Given the description of an element on the screen output the (x, y) to click on. 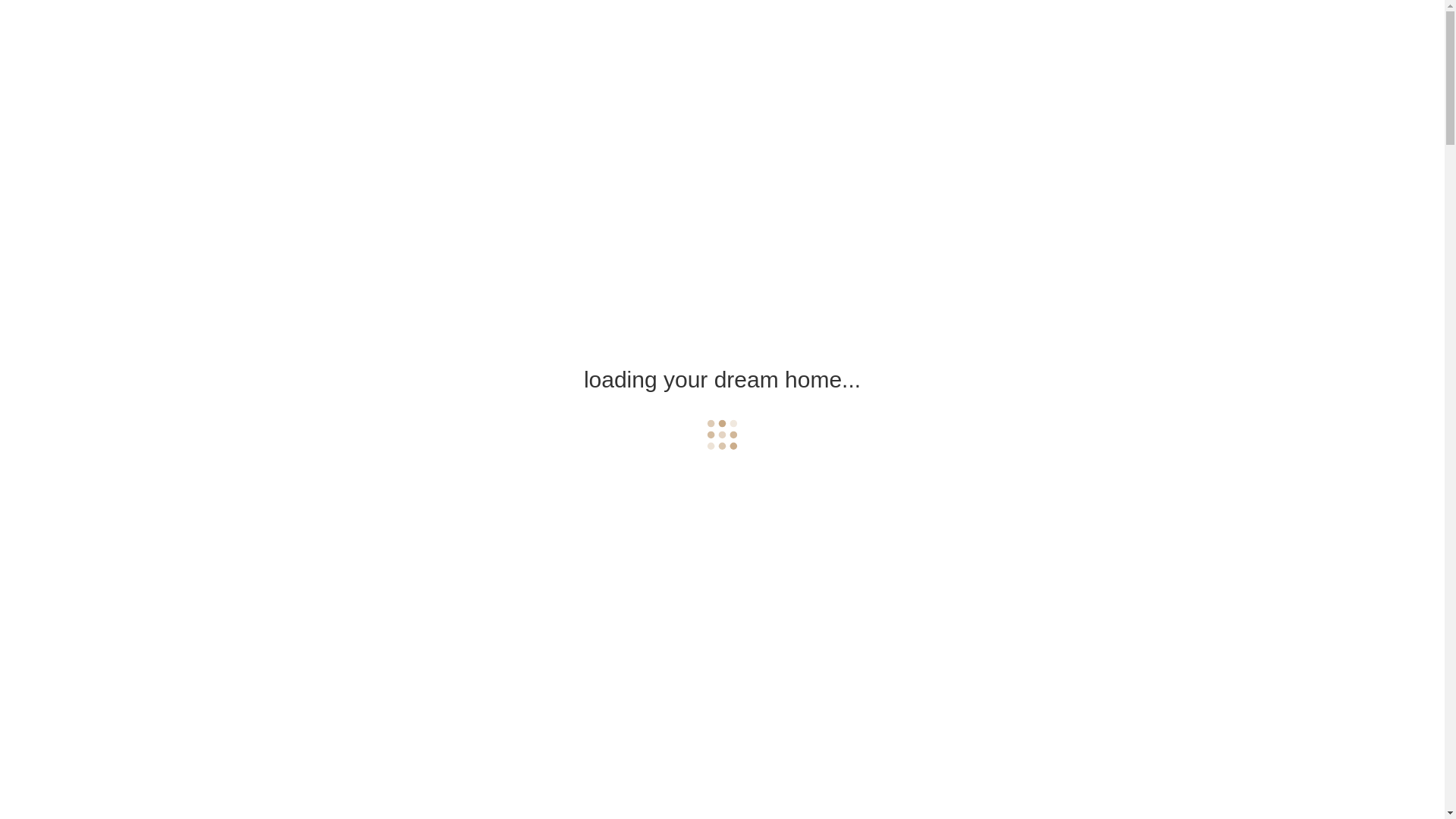
LOCATION Element type: text (979, 37)
GALLERY Element type: text (648, 37)
HIGHLIGHTS Element type: text (807, 37)
VIDEO TOUR Element type: text (723, 37)
SCHEDULE & CONTACT Element type: text (1084, 37)
296 MARGARITA DRIVE Element type: text (721, 511)
FLOOR PLANS Element type: text (896, 37)
296 Margarita Drive Element type: text (357, 34)
